Given the description of an element on the screen output the (x, y) to click on. 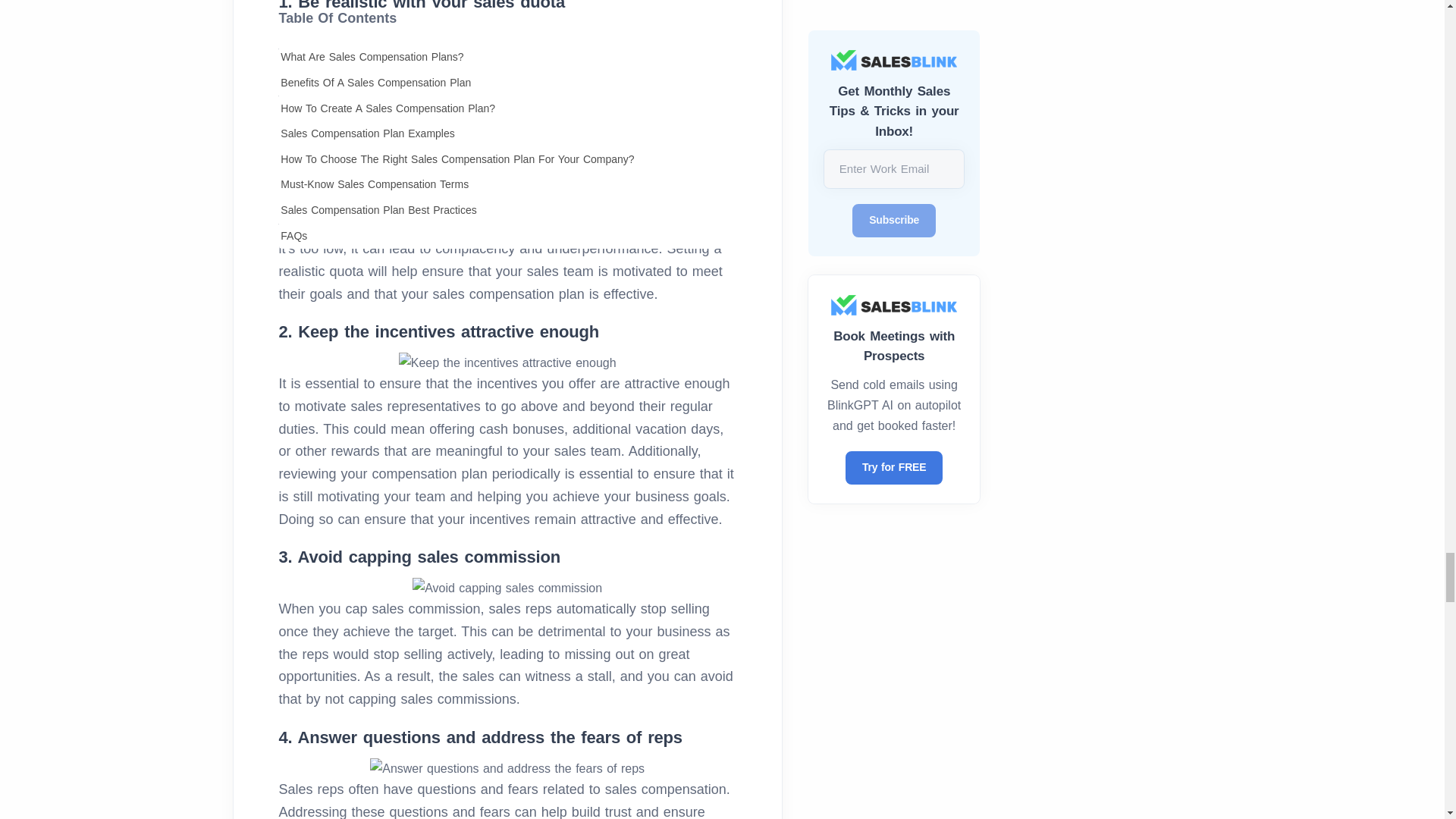
Keep the incentives attractive enough (506, 362)
Answer questions and address the fears of reps (507, 768)
Avoid capping sales commission (507, 588)
Be realistic with your sales quota (507, 32)
